Given the description of an element on the screen output the (x, y) to click on. 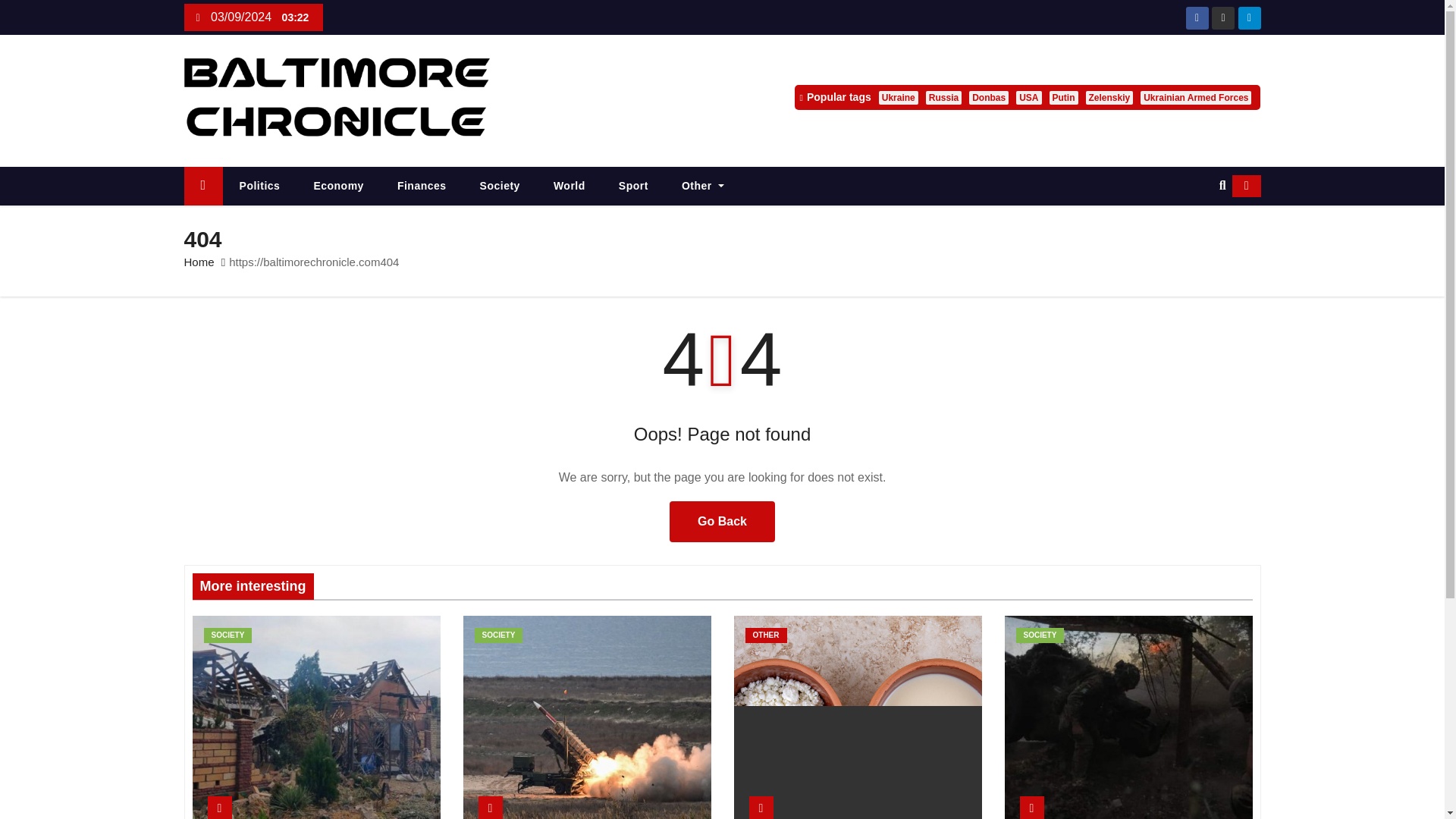
Other (703, 186)
Sport (633, 186)
Economy (338, 186)
SOCIETY (498, 635)
Zelenskiy (1110, 97)
Home (202, 186)
Economy (338, 186)
Politics (259, 186)
Russia (943, 97)
Home (198, 261)
